Given the description of an element on the screen output the (x, y) to click on. 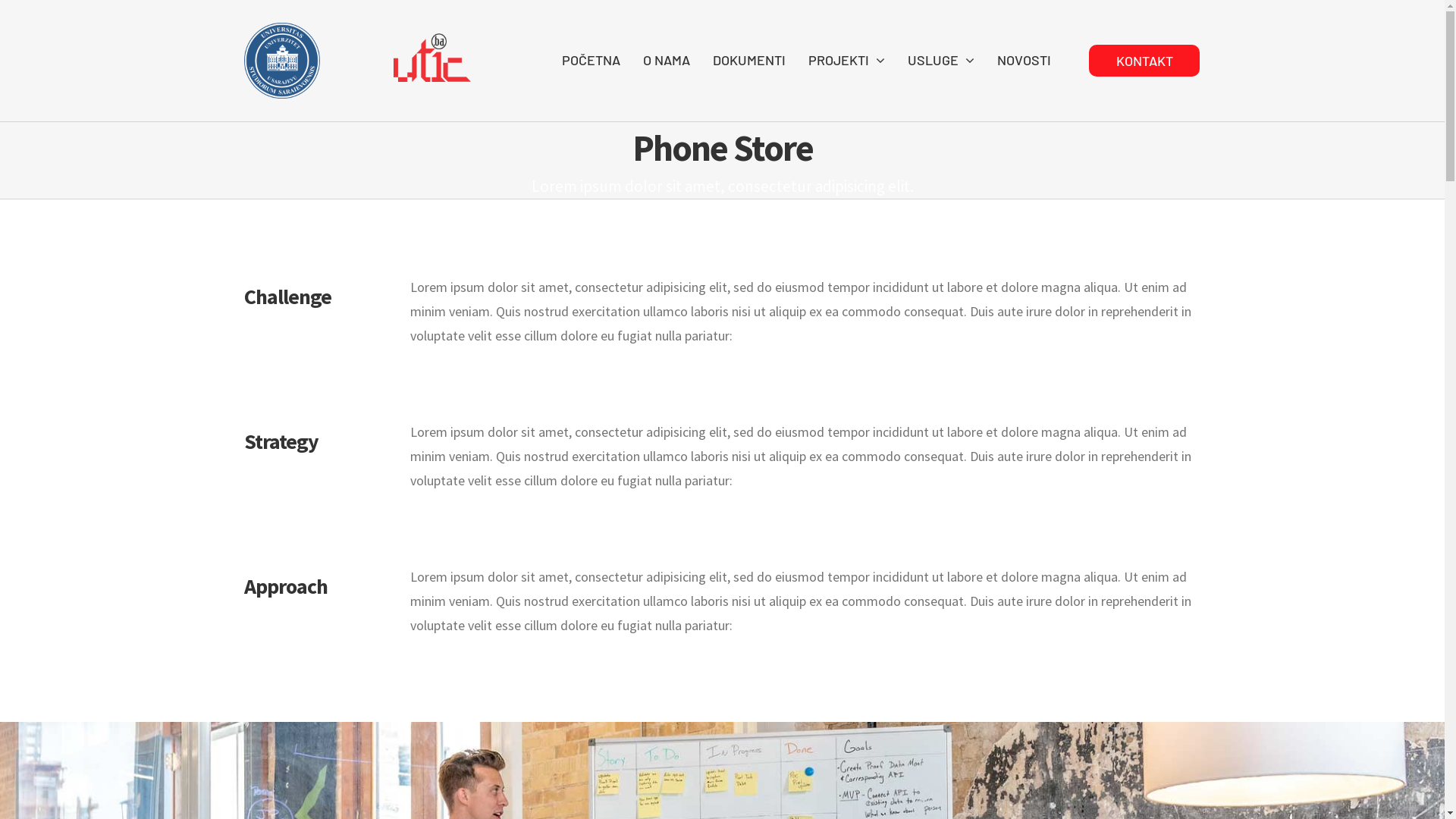
O NAMA Element type: text (666, 60)
NOVOSTI Element type: text (1024, 60)
DOKUMENTI Element type: text (748, 60)
KONTAKT Element type: text (1143, 60)
PROJEKTI Element type: text (846, 60)
USLUGE Element type: text (940, 60)
